Given the description of an element on the screen output the (x, y) to click on. 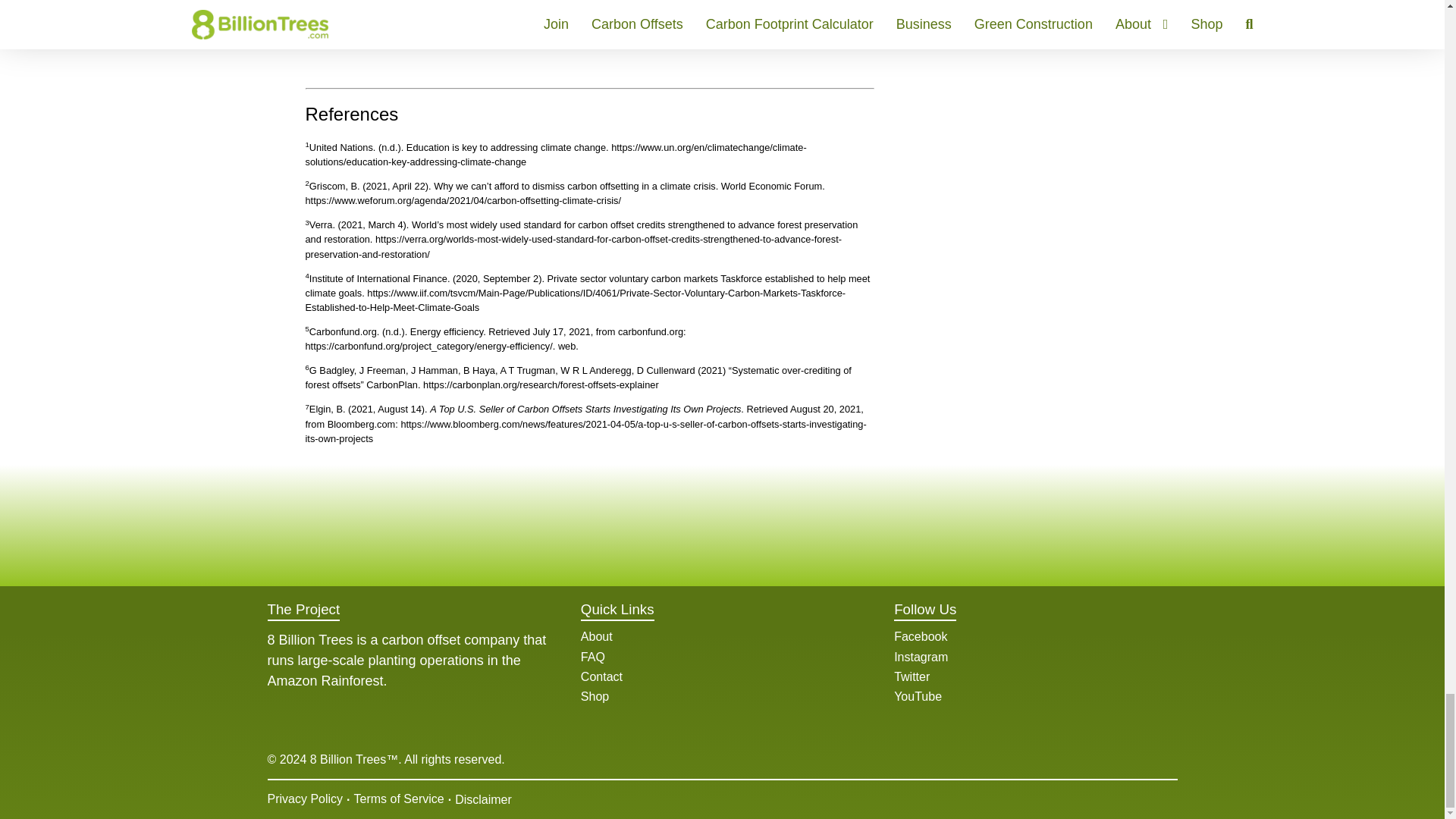
Previous (315, 26)
